Given the description of an element on the screen output the (x, y) to click on. 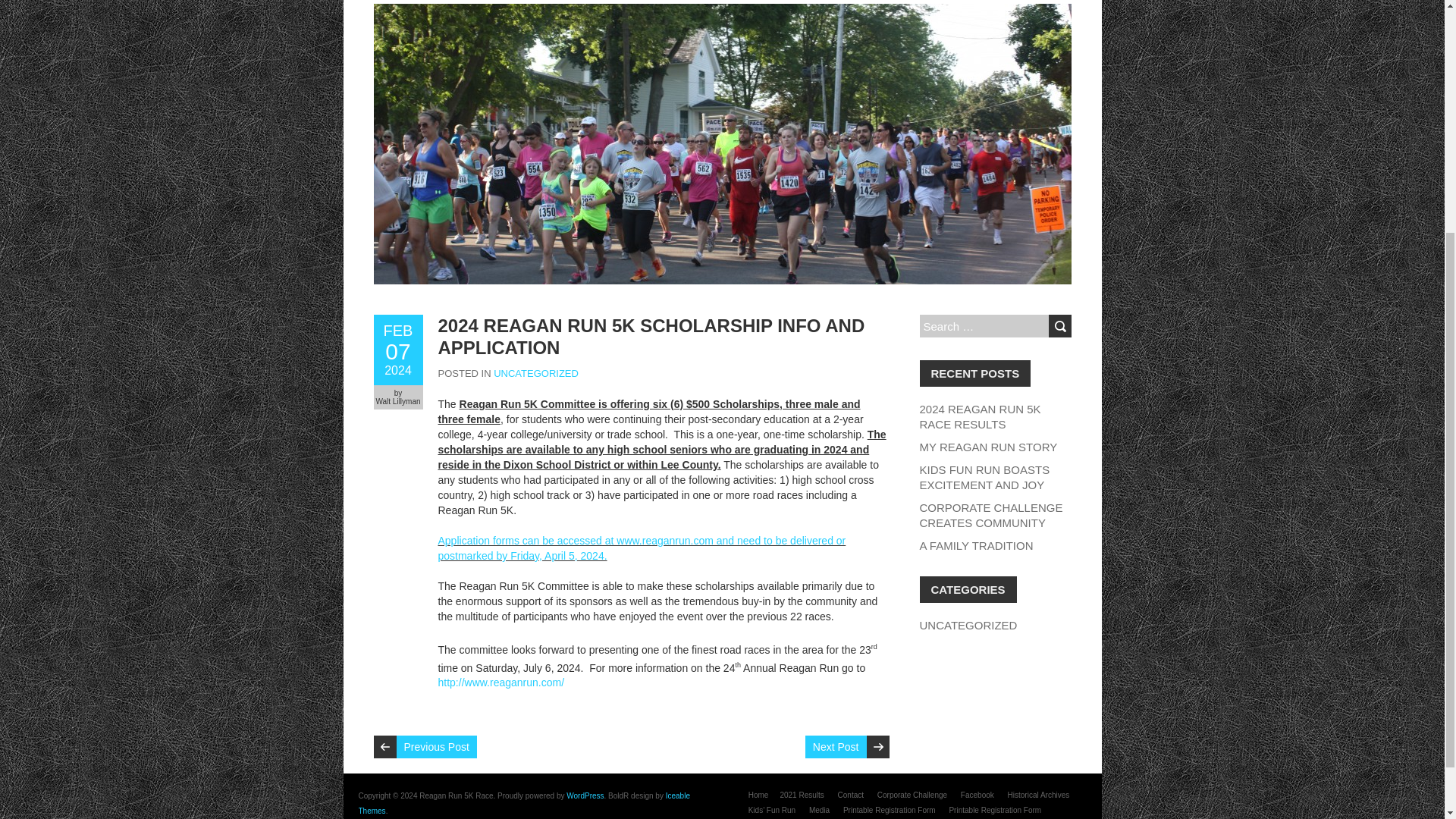
Search (1059, 325)
2024 Reagan Run 5K Scholarship info and application (651, 336)
Free and Premium WordPress Themes (523, 802)
Search (397, 349)
Semantic Personal Publishing Platform (1059, 325)
2024 Reagan Run 5K Scholarship info and application (585, 795)
